Given the description of an element on the screen output the (x, y) to click on. 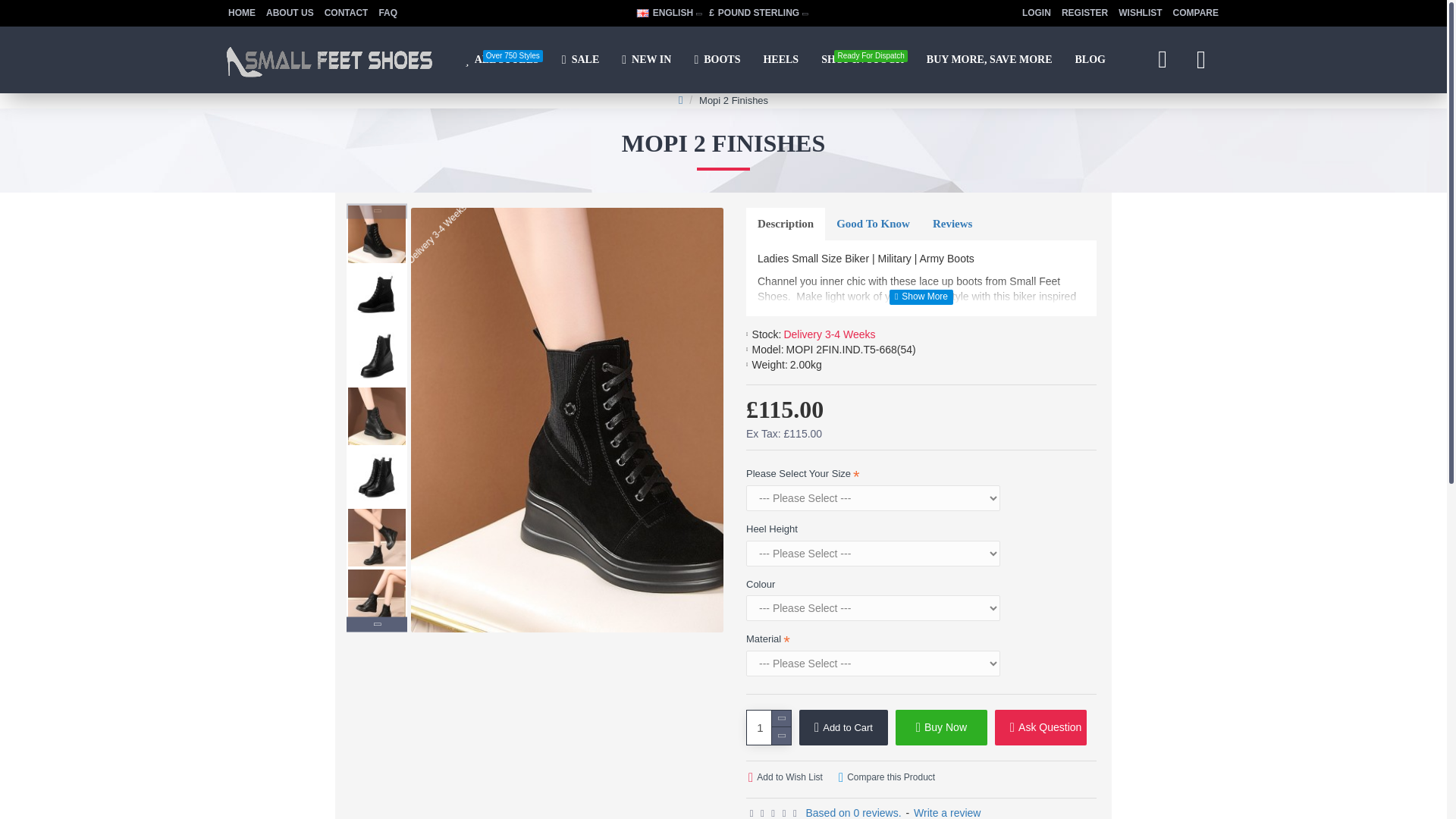
English (643, 13)
ABOUT US (289, 13)
WISHLIST (1140, 13)
FAQ (387, 13)
REGISTER (501, 59)
COMPARE (1085, 13)
Mopi 2 Finishes (1195, 13)
Small Feet Shoes Ltd (346, 13)
